Given the description of an element on the screen output the (x, y) to click on. 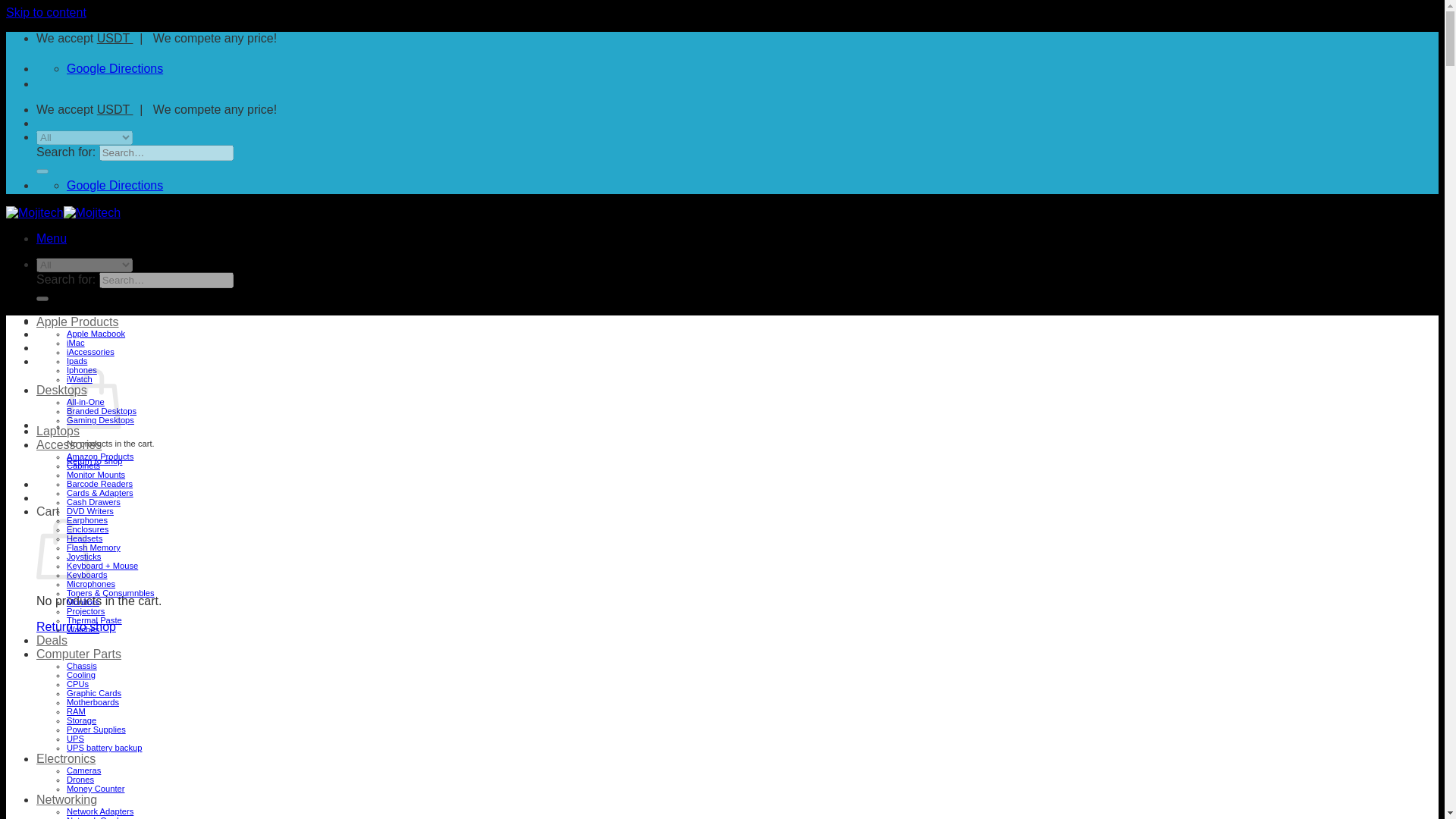
Search (42, 298)
Accessories (68, 444)
iMac (75, 342)
All-in-One (85, 401)
Ipads (76, 360)
Return to shop (76, 626)
Iphones (81, 369)
iAccessories (90, 351)
Apple Macbook (95, 333)
Google Directions (114, 68)
